Given the description of an element on the screen output the (x, y) to click on. 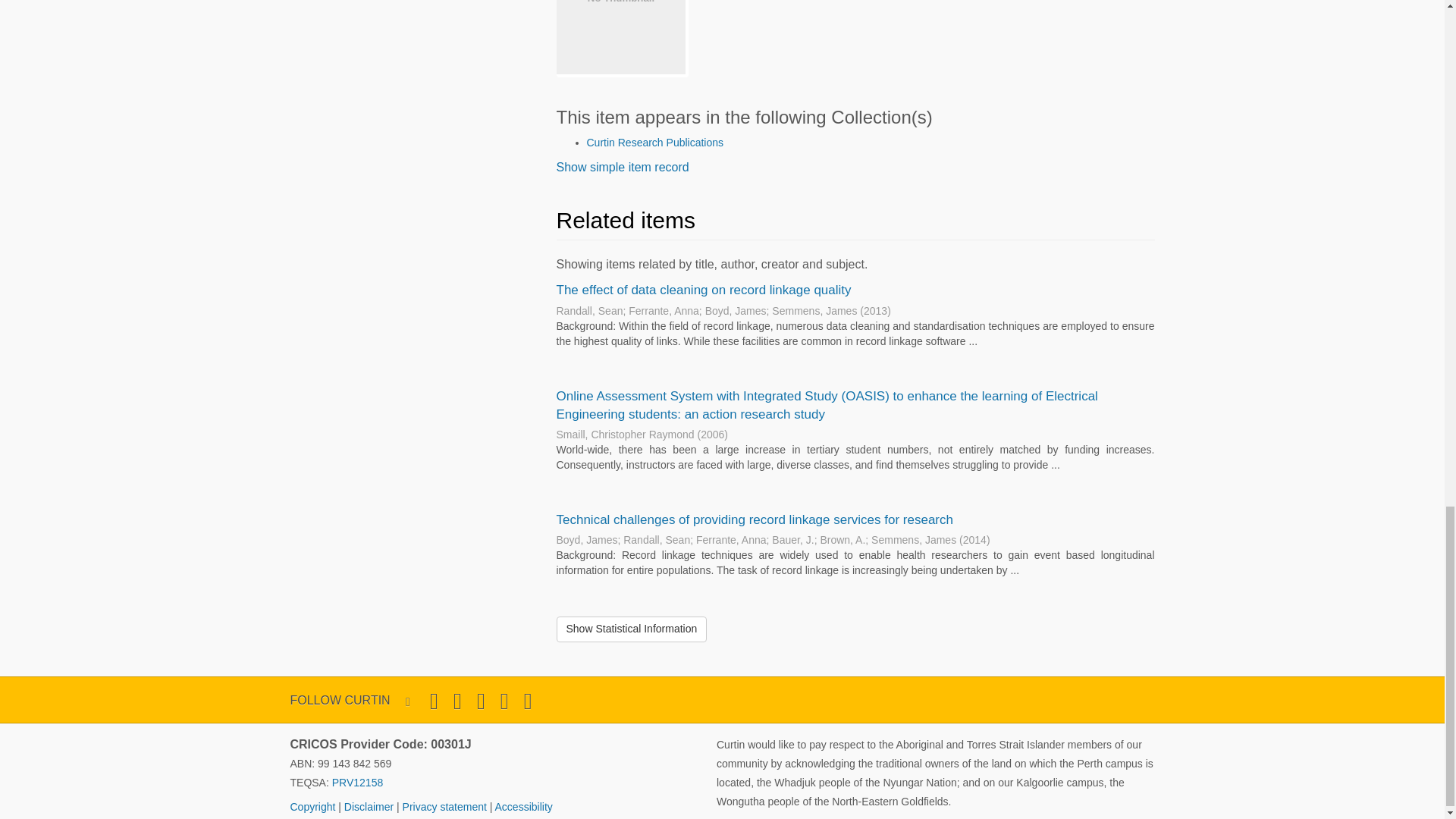
Show Statistical Information (631, 629)
Show simple item record (622, 166)
The effect of data cleaning on record linkage quality (703, 289)
Curtin Research Publications (654, 142)
